Given the description of an element on the screen output the (x, y) to click on. 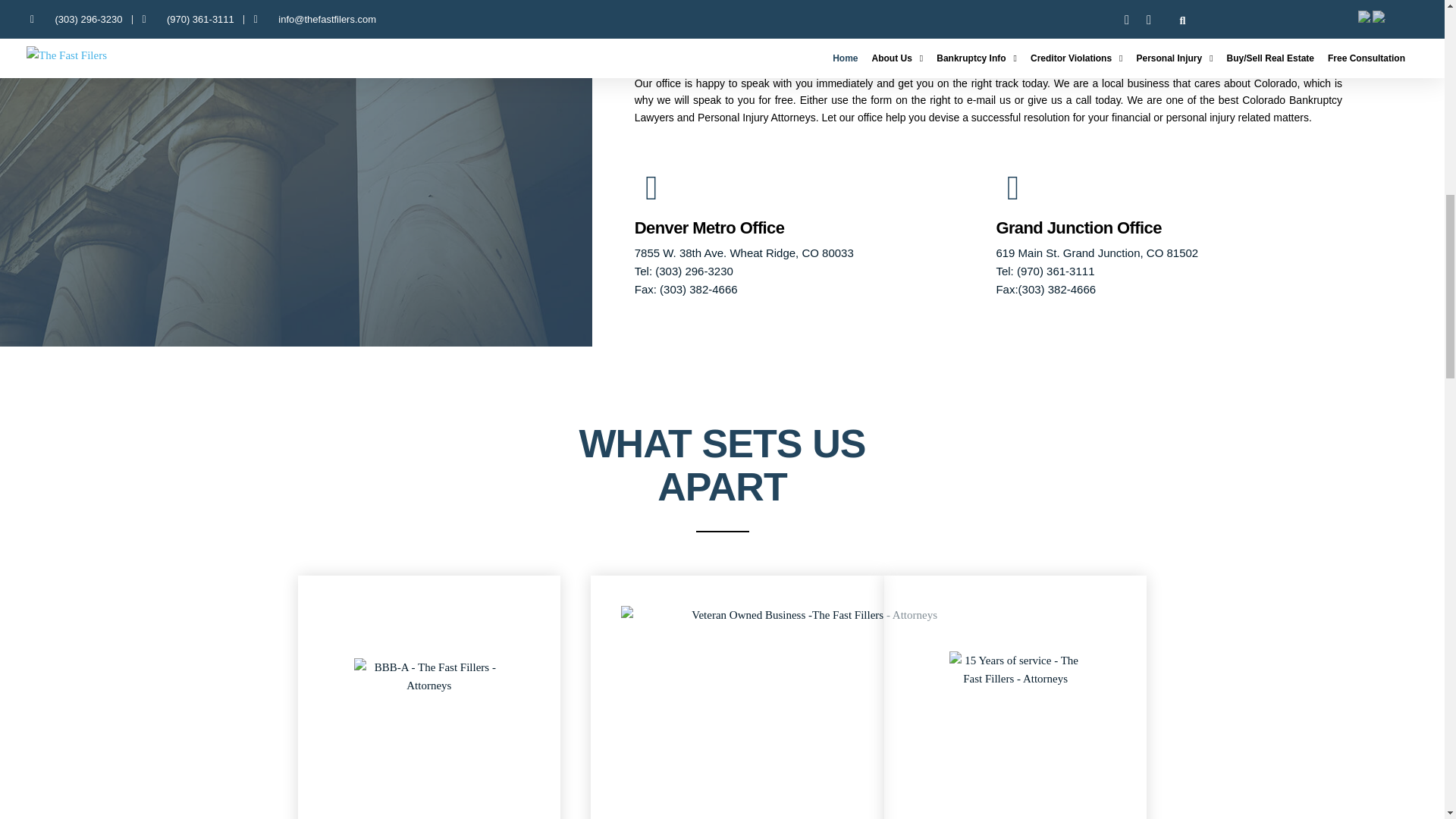
Vet-Owned-removebg-preview (808, 712)
15-year-of-Service-removebg-preview (1014, 716)
BBB-A-removebg-preview (428, 716)
